Given the description of an element on the screen output the (x, y) to click on. 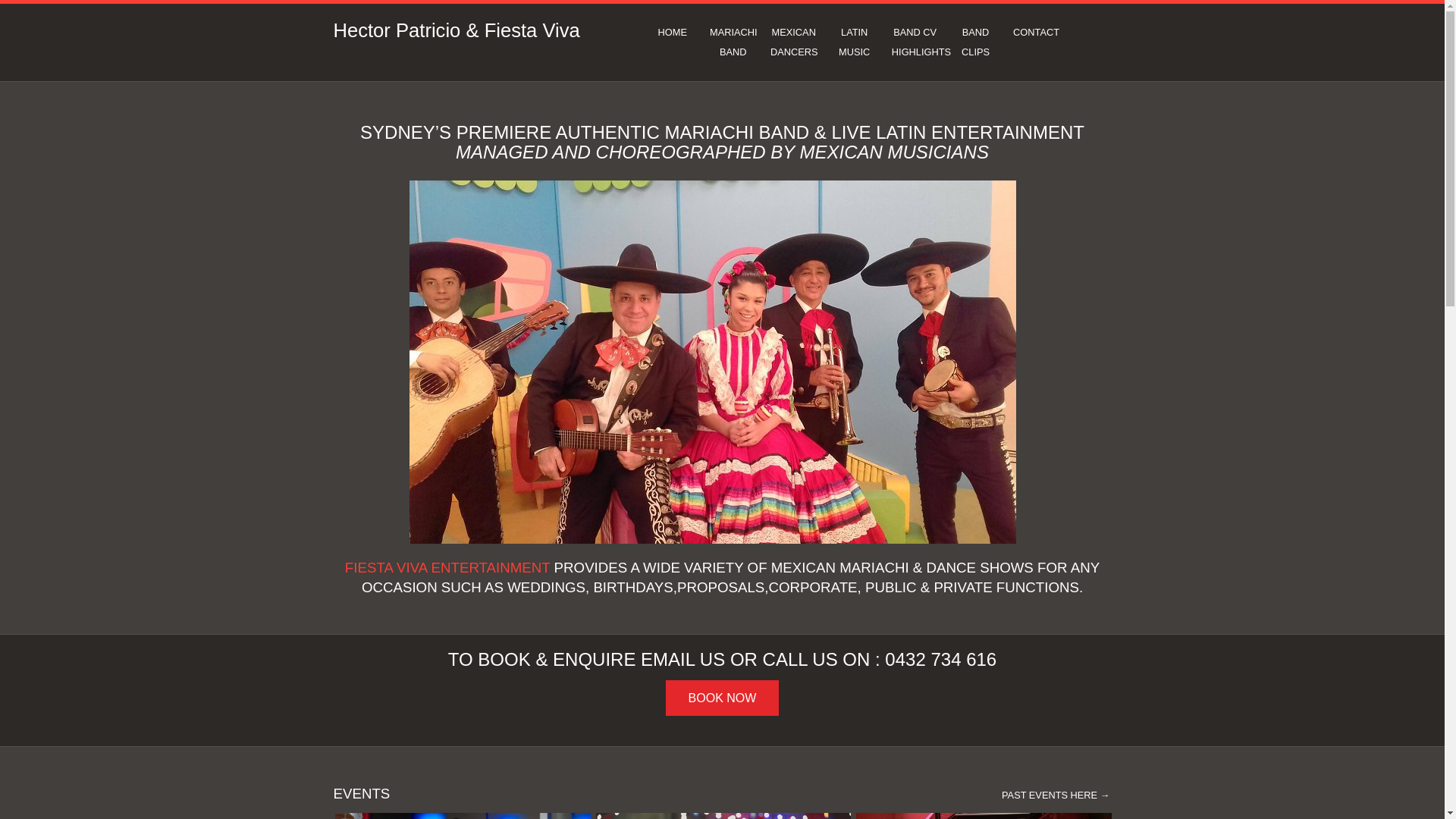
MARIACHI BAND Element type: text (733, 42)
LATIN MUSIC Element type: text (854, 42)
EVENTS Element type: text (361, 793)
BAND CV HIGHLIGHTS Element type: text (915, 42)
CONTACT Element type: text (1036, 32)
HOME Element type: text (672, 32)
Hector Patricio & Fiesta Viva Element type: text (456, 29)
BAND CLIPS Element type: text (975, 42)
MEXICAN DANCERS Element type: text (793, 42)
BOOK NOW Element type: text (722, 697)
